Given the description of an element on the screen output the (x, y) to click on. 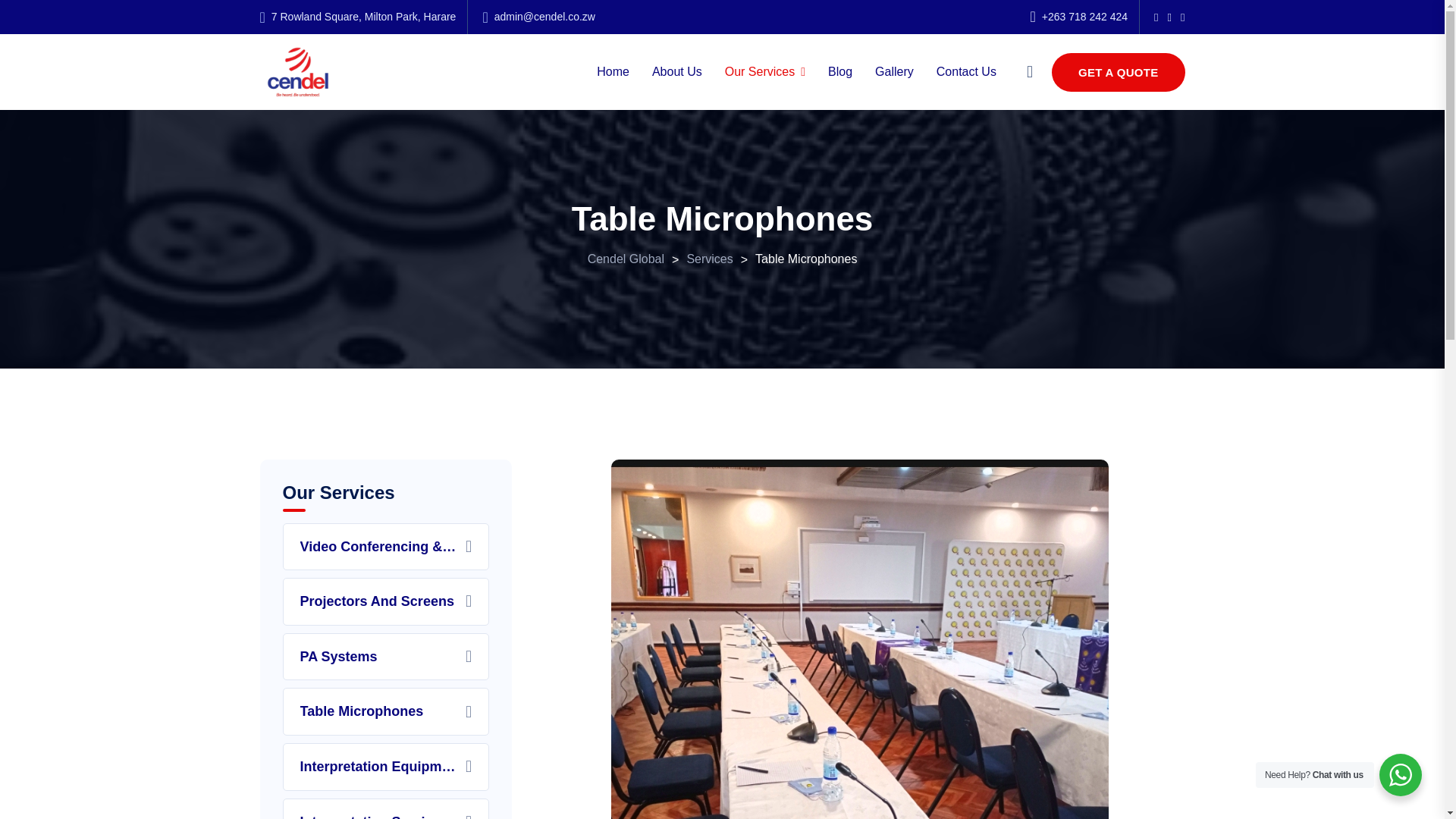
Contact Us (965, 72)
Cendel Global (625, 258)
About Us (676, 72)
Our Services (764, 72)
Contact Us (965, 72)
GET A QUOTE (1118, 72)
Our Services (764, 72)
About Us (676, 72)
